Given the description of an element on the screen output the (x, y) to click on. 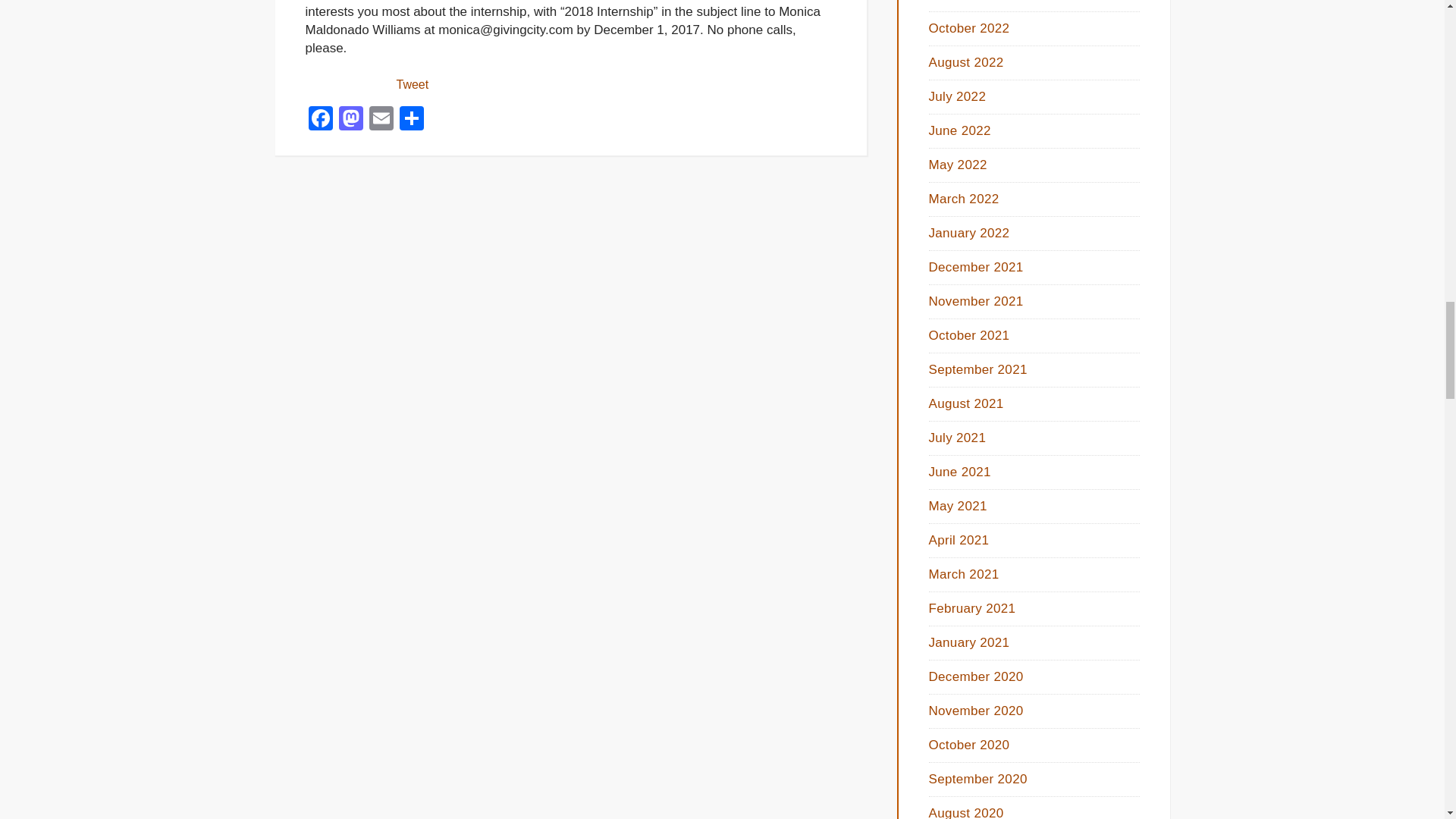
Email (380, 120)
Share (411, 120)
Email (380, 120)
Mastodon (349, 120)
Mastodon (349, 120)
Tweet (412, 83)
Facebook (319, 120)
Facebook (319, 120)
